Given the description of an element on the screen output the (x, y) to click on. 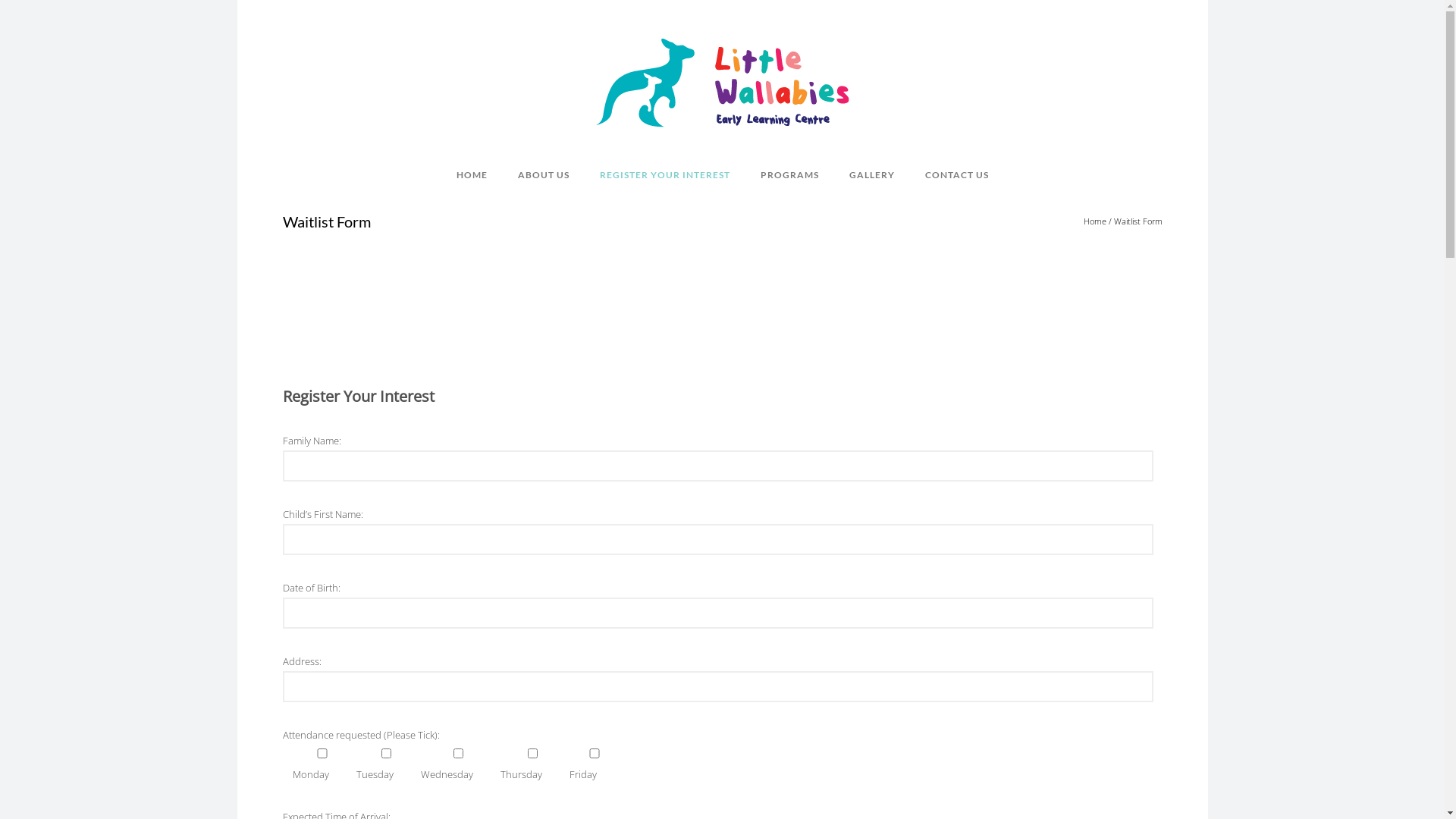
Waitlist Form Element type: text (1137, 220)
PROGRAMS Element type: text (788, 174)
CONTACT US Element type: text (949, 174)
ABOUT US Element type: text (542, 174)
HOME Element type: text (479, 174)
Home Element type: text (1093, 220)
REGISTER YOUR INTEREST Element type: text (663, 174)
GALLERY Element type: text (872, 174)
